Given the description of an element on the screen output the (x, y) to click on. 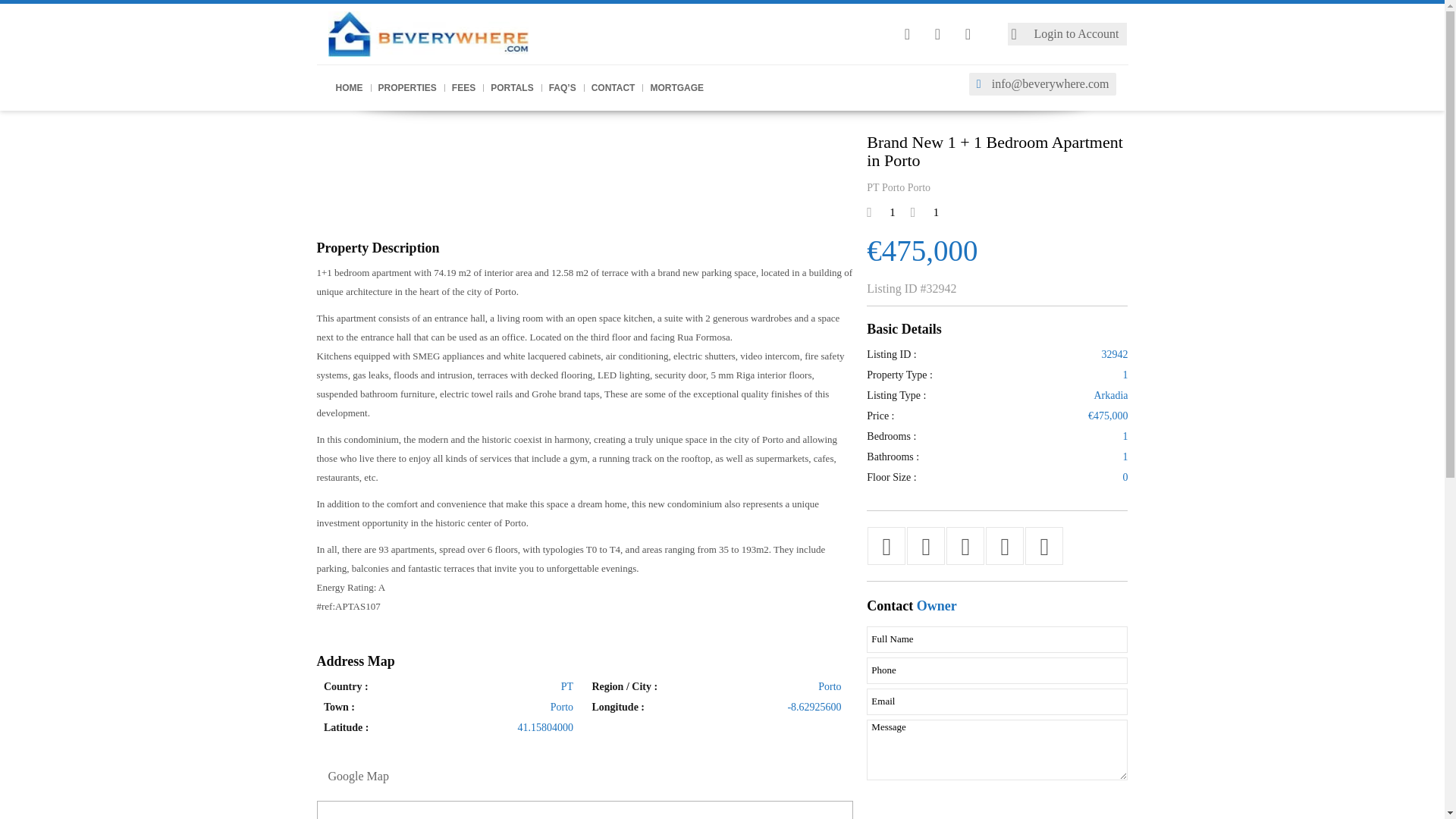
FEES (463, 87)
MORTGAGE (676, 87)
Send to Friend (1044, 545)
PORTALS (511, 87)
CONTACT (613, 87)
Share on Linkedin (965, 545)
YouTube (967, 33)
Share on Facebook (885, 545)
Pin it (925, 545)
HOME (348, 87)
Login to Account (1066, 33)
PDF (1005, 545)
instagram (907, 33)
PROPERTIES (406, 87)
Google Map (358, 776)
